Given the description of an element on the screen output the (x, y) to click on. 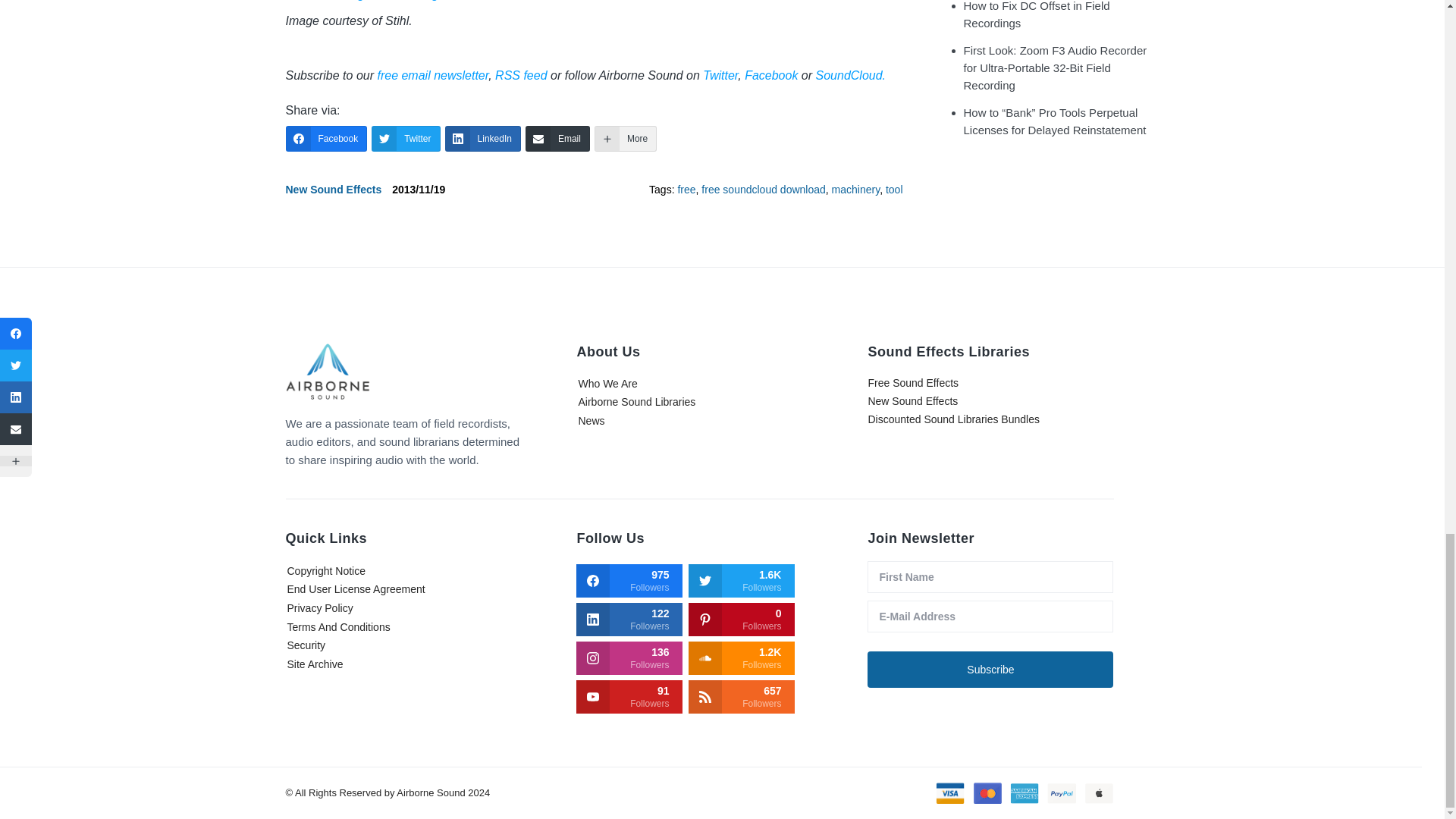
free email newsletter (432, 74)
Twitter (720, 74)
RSS feed (521, 74)
Subscribe (990, 669)
